Given the description of an element on the screen output the (x, y) to click on. 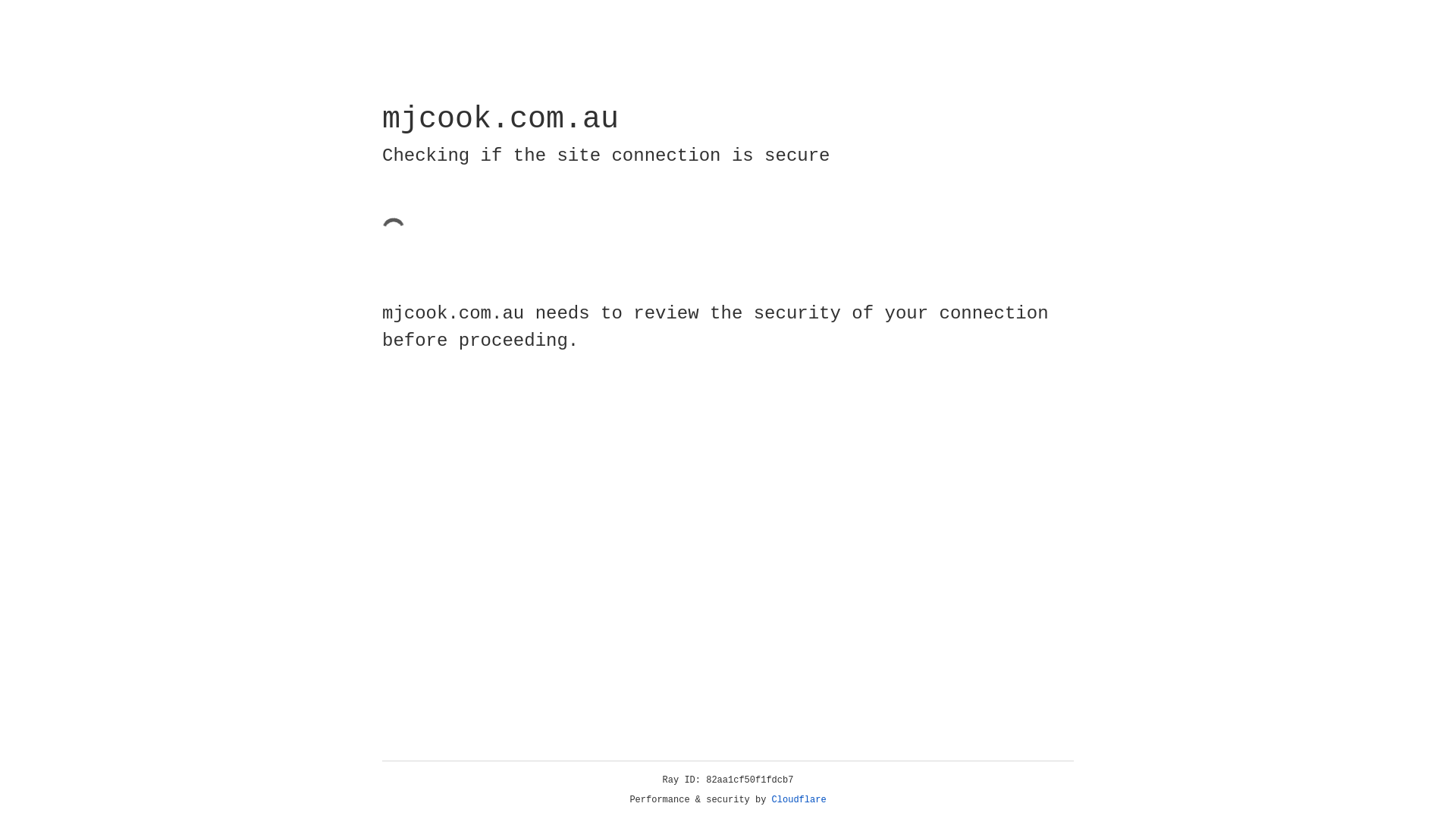
Cloudflare Element type: text (798, 799)
